Given the description of an element on the screen output the (x, y) to click on. 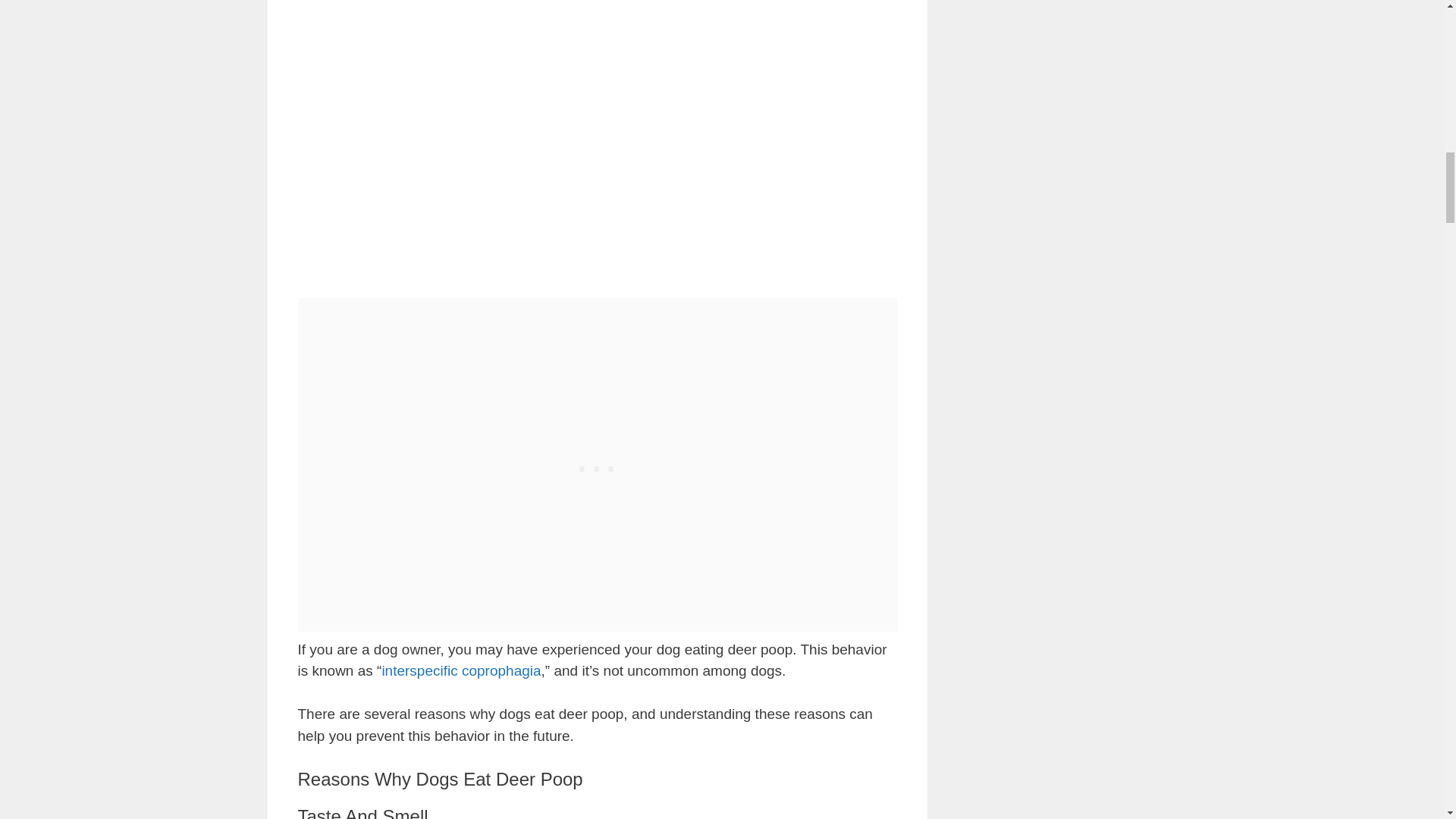
interspecific coprophagia (460, 670)
